Given the description of an element on the screen output the (x, y) to click on. 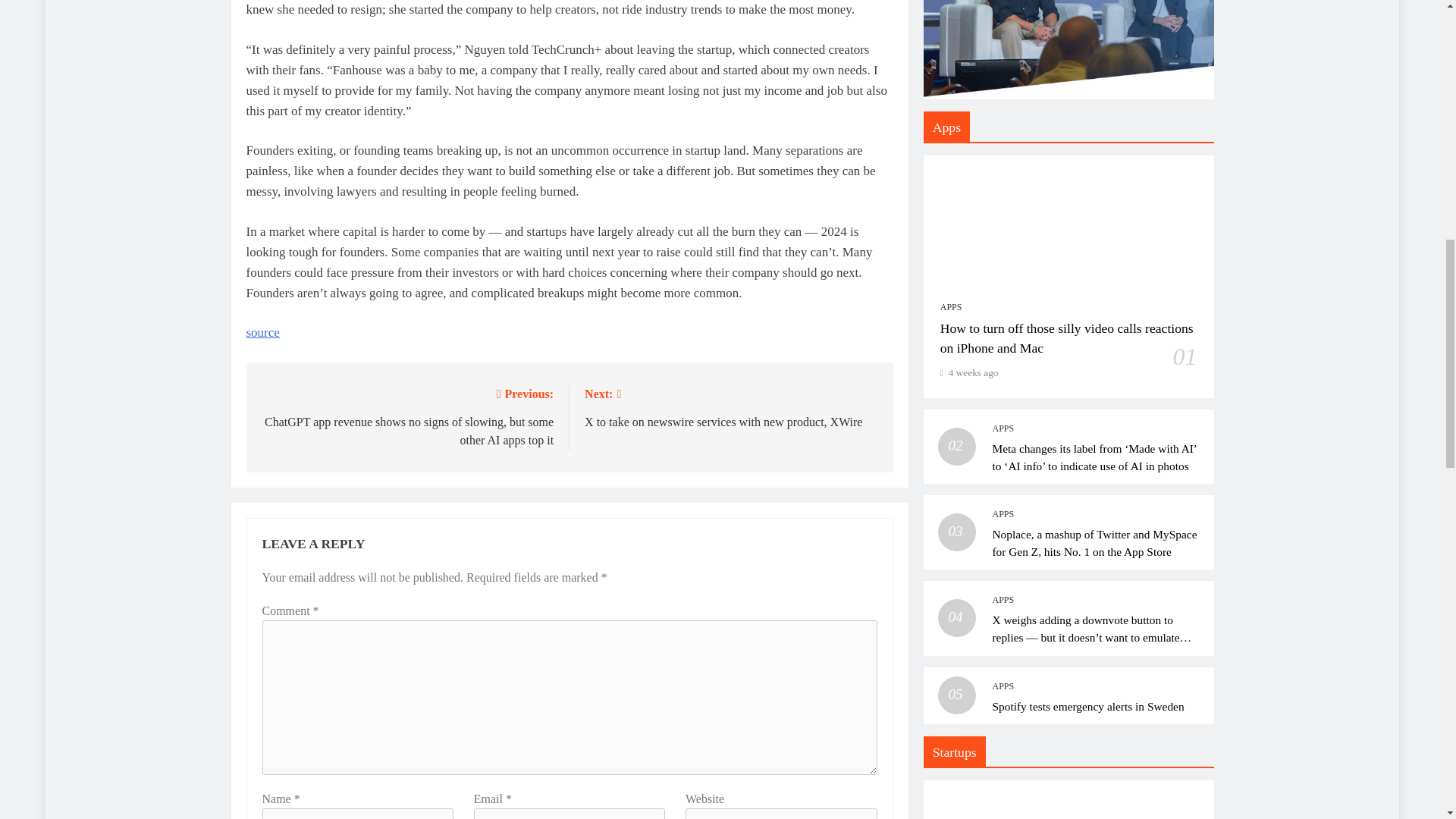
source (262, 332)
